Given the description of an element on the screen output the (x, y) to click on. 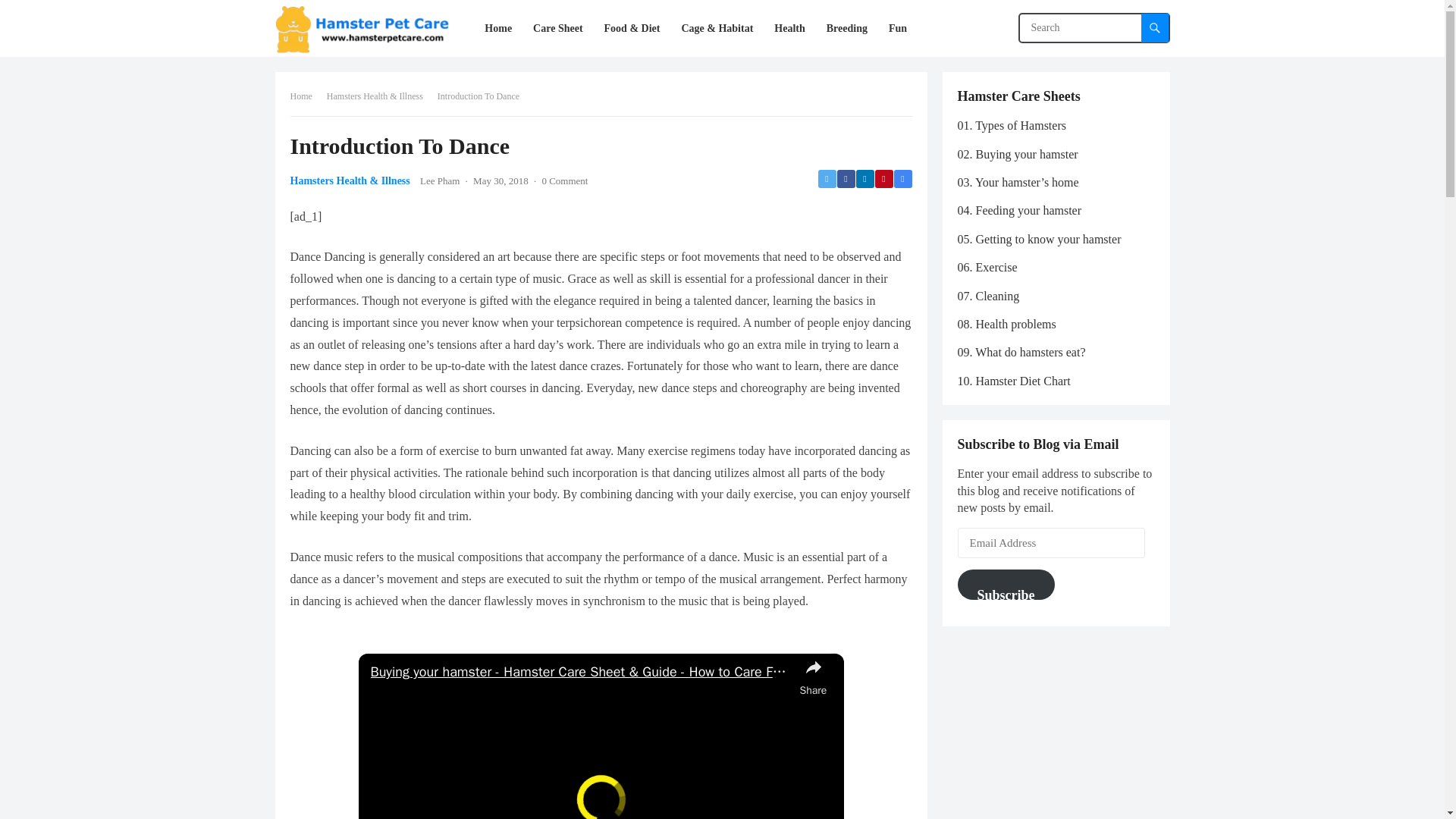
Posts by Lee Pham (440, 180)
Breeding (846, 28)
Care Sheet (557, 28)
